Given the description of an element on the screen output the (x, y) to click on. 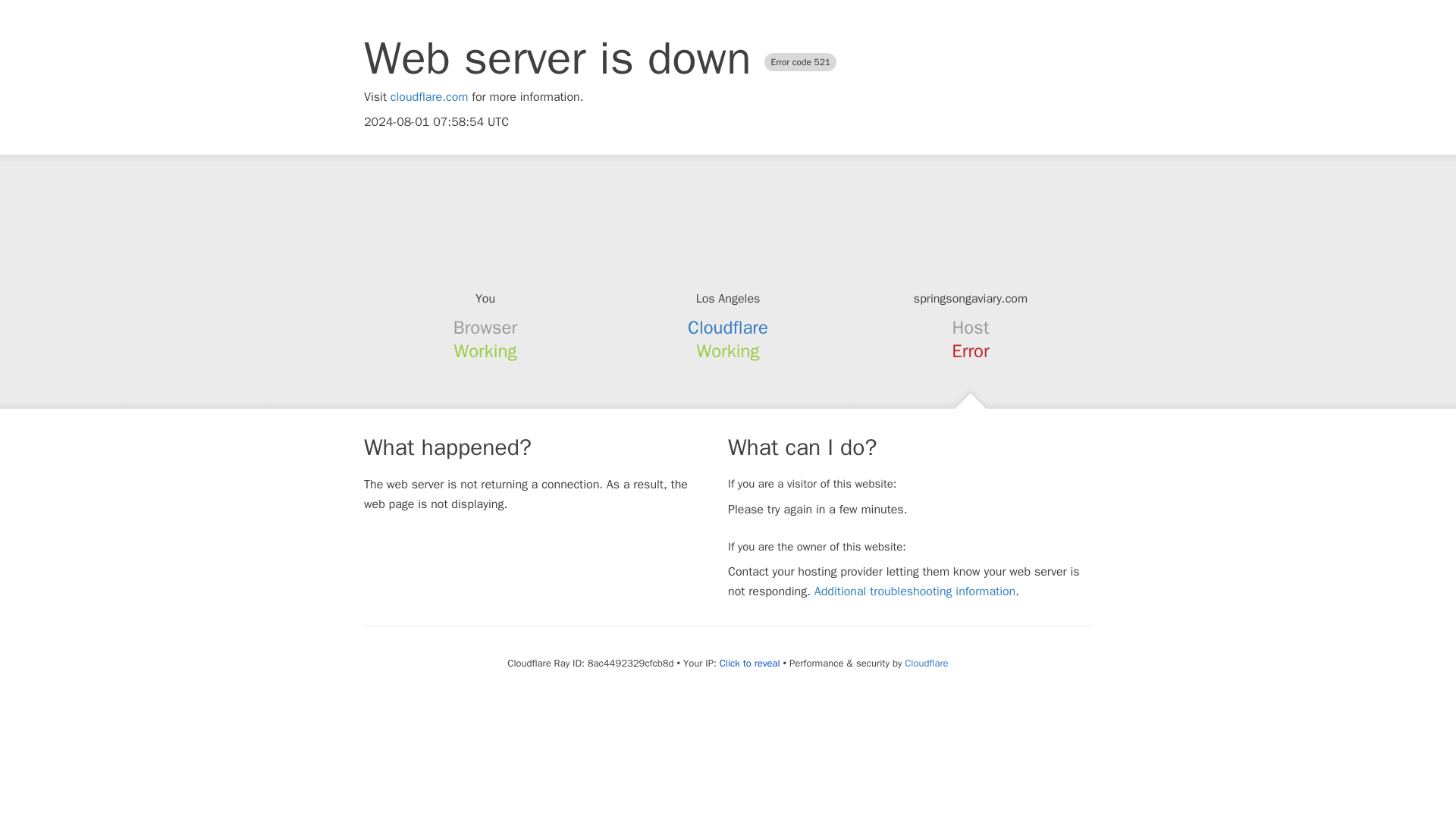
cloudflare.com (429, 96)
Additional troubleshooting information (913, 590)
Click to reveal (749, 663)
Cloudflare (727, 327)
Cloudflare (925, 662)
